Given the description of an element on the screen output the (x, y) to click on. 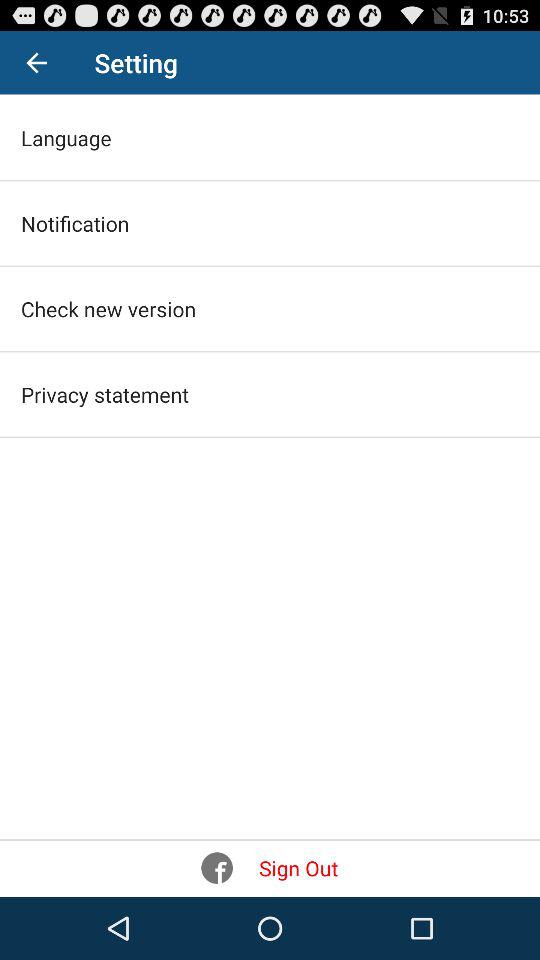
select the check new version item (108, 308)
